Given the description of an element on the screen output the (x, y) to click on. 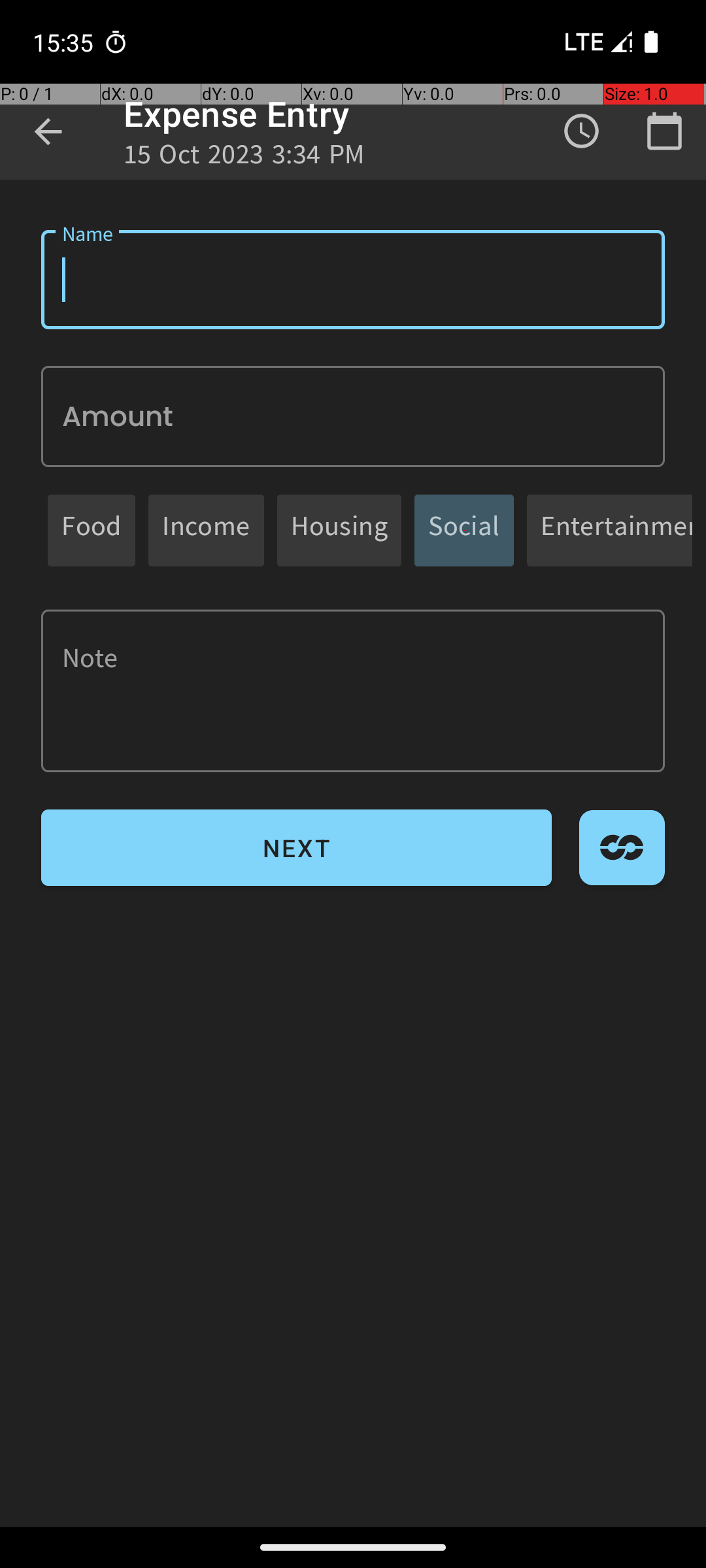
NEXT Element type: android.widget.Button (296, 847)
